Given the description of an element on the screen output the (x, y) to click on. 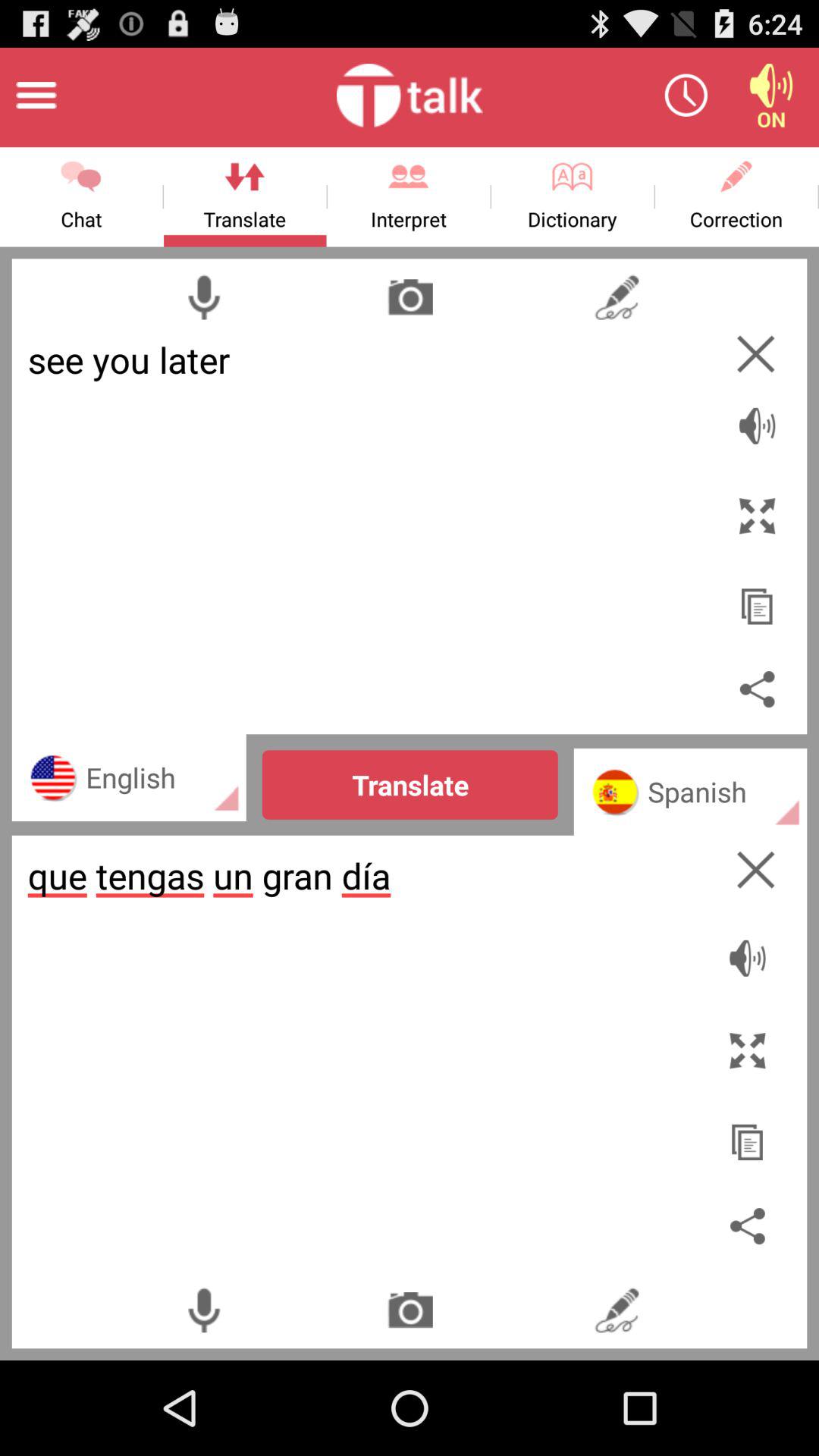
this will translate words from something that you can hover your camera over (410, 297)
